Given the description of an element on the screen output the (x, y) to click on. 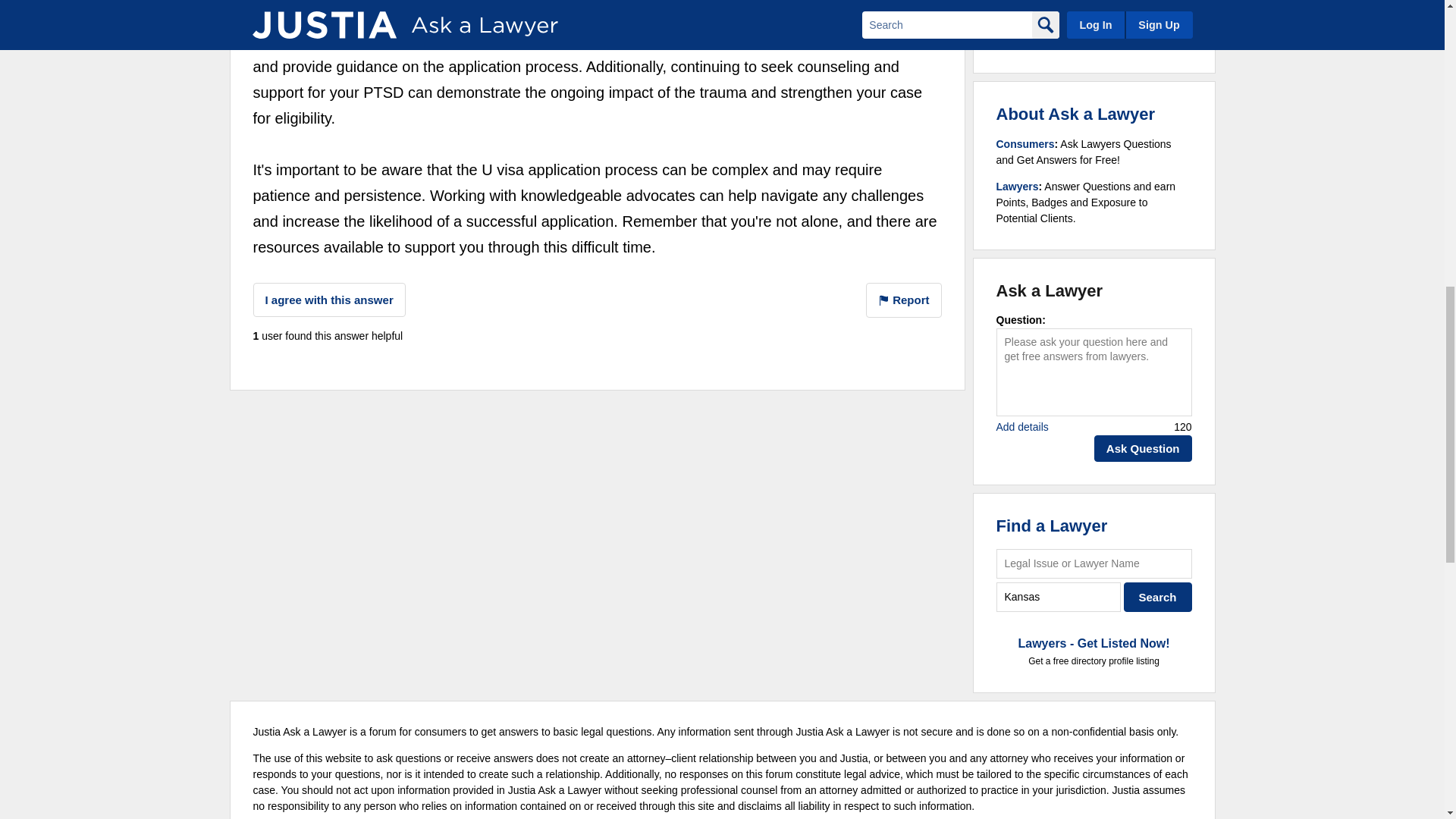
Kansas (1058, 596)
Ask a Lawyer - FAQs - Consumers (1024, 143)
I agree with this answer (329, 299)
City, State (1058, 596)
Legal Issue or Lawyer Name (1093, 563)
Ask a Lawyer - FAQs - Lawyers (1017, 186)
Search (1158, 596)
Search (1158, 596)
